Given the description of an element on the screen output the (x, y) to click on. 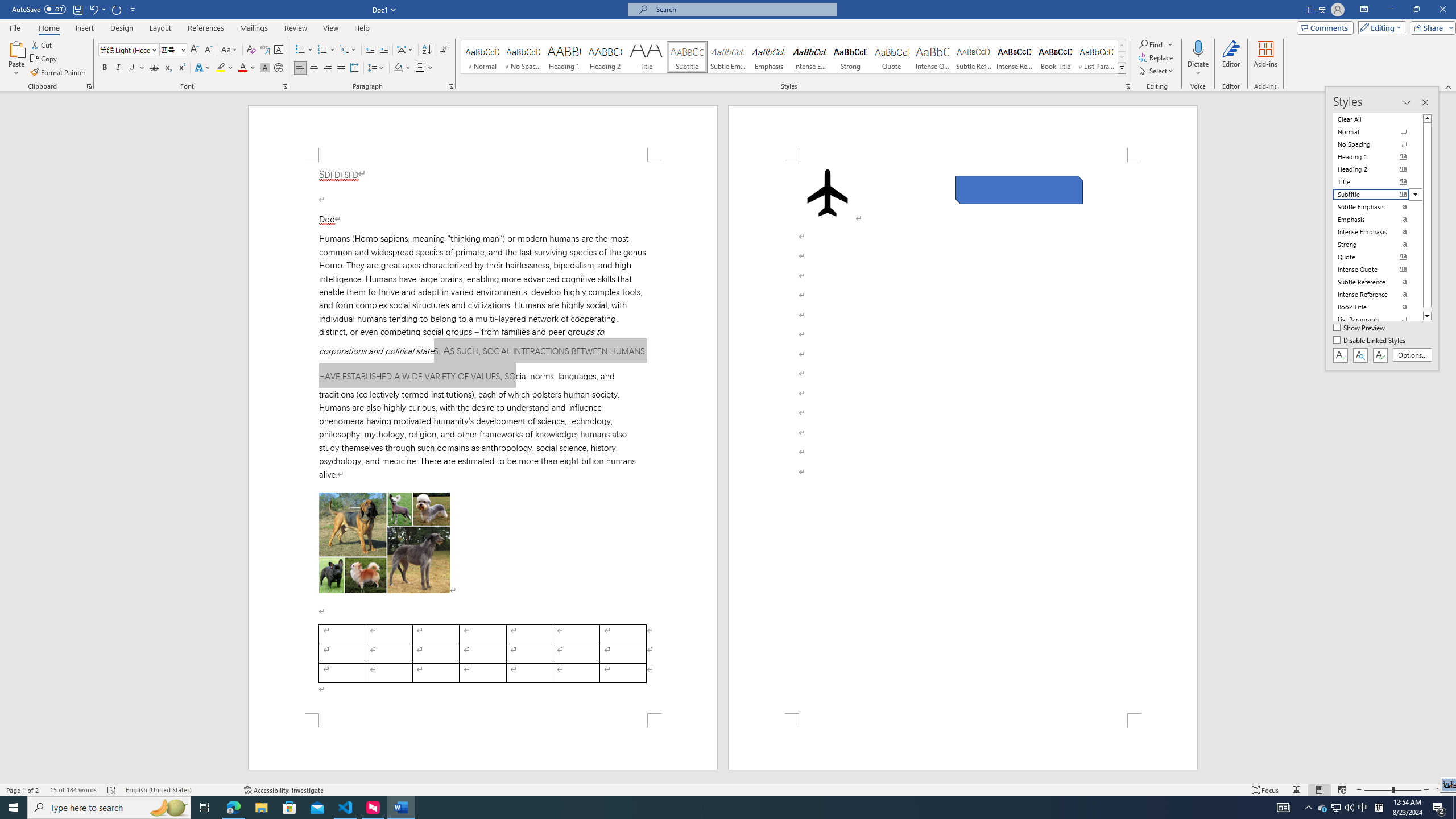
Office Clipboard... (88, 85)
Bullets (304, 49)
Intense Quote (932, 56)
Comments (1325, 27)
Title (646, 56)
Ribbon Display Options (1364, 9)
Undo Style (92, 9)
Review (295, 28)
Text Highlight Color Yellow (220, 67)
Shading RGB(0, 0, 0) (397, 67)
View (330, 28)
Bold (104, 67)
Class: NetUIButton (1380, 355)
Replace... (1156, 56)
